Given the description of an element on the screen output the (x, y) to click on. 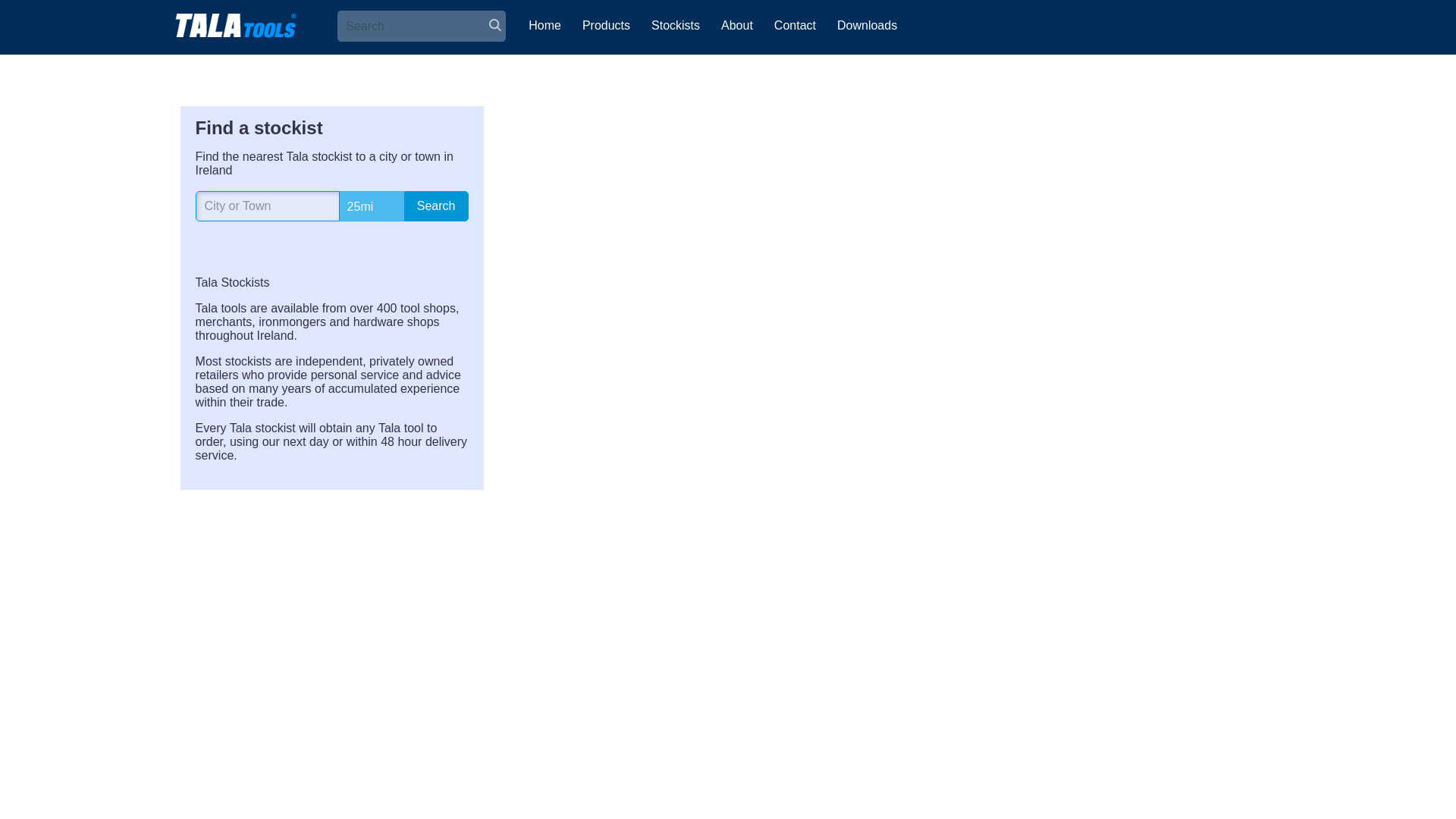
Home (544, 25)
Products (606, 25)
About (737, 25)
Search (436, 205)
Contact (794, 25)
Stockists (675, 25)
Downloads (866, 25)
